Given the description of an element on the screen output the (x, y) to click on. 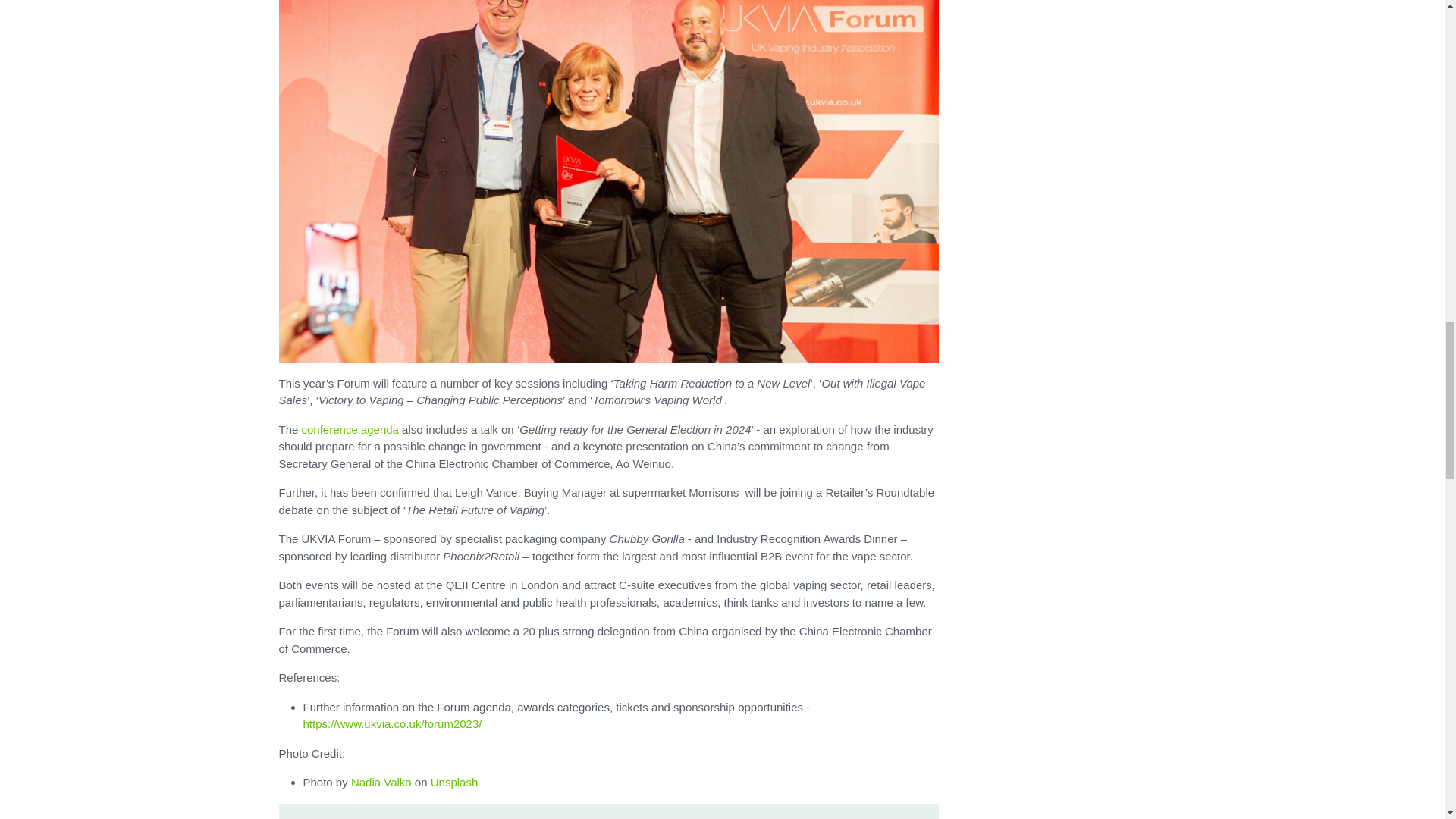
Unsplash (454, 781)
Nadia Valko (381, 781)
conference agenda (349, 429)
